Given the description of an element on the screen output the (x, y) to click on. 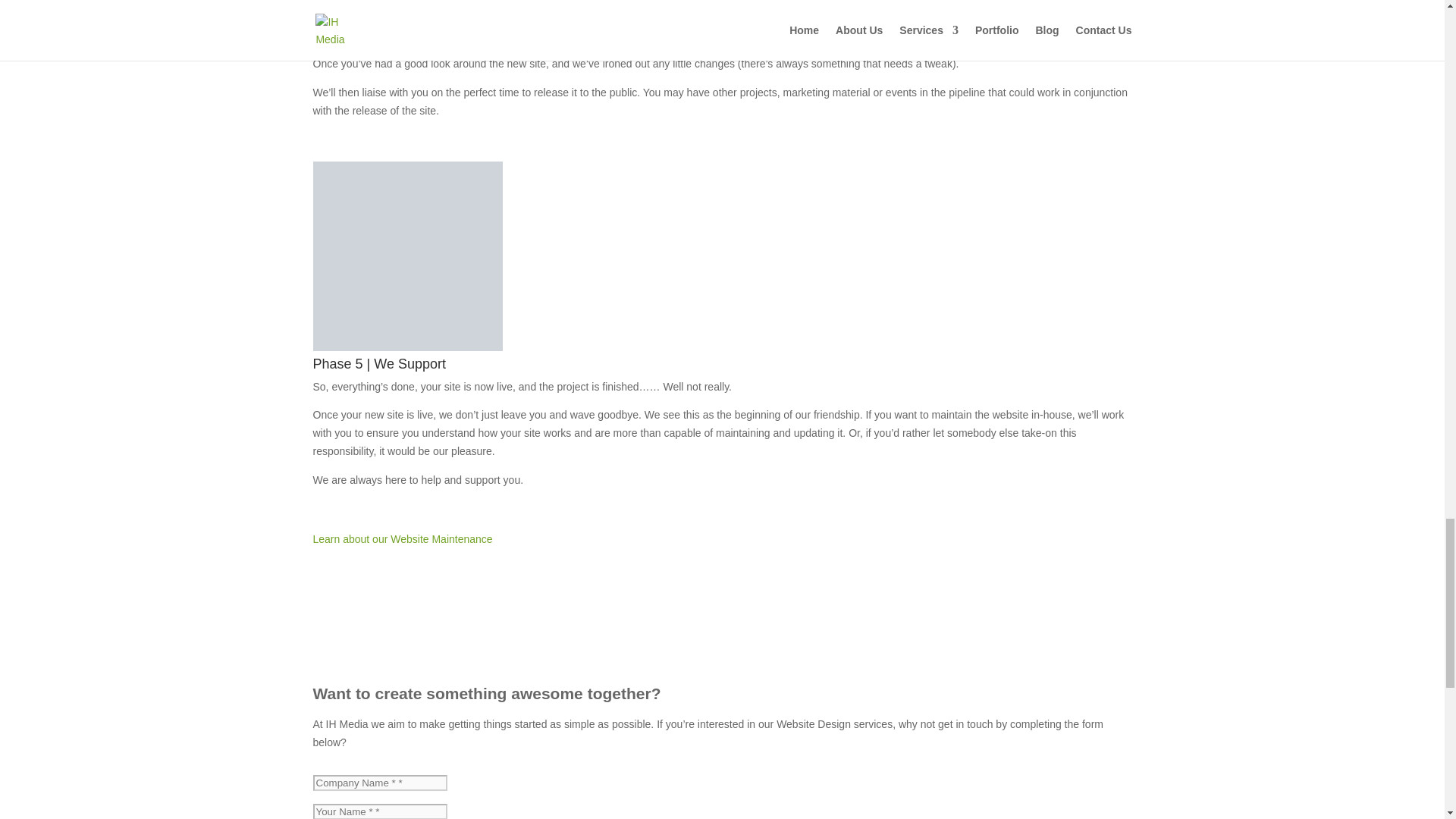
Learn about our Website Maintenance (402, 539)
